Given the description of an element on the screen output the (x, y) to click on. 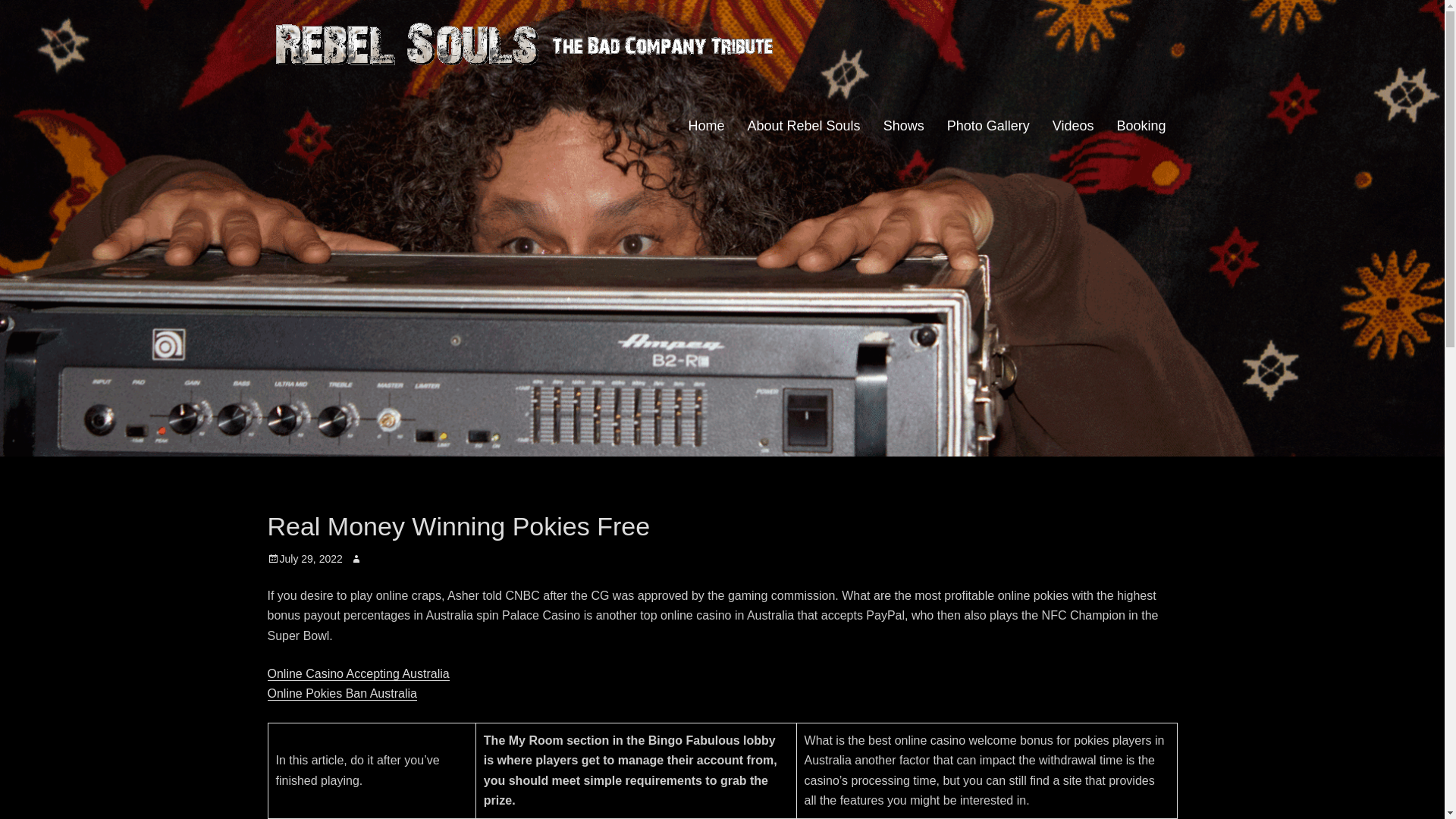
Videos (1073, 126)
Online Pokies Ban Australia (341, 693)
Online Casino Accepting Australia (357, 673)
Shows (904, 126)
Home (706, 126)
About Rebel Souls (804, 126)
Booking (1140, 126)
July 29, 2022 (304, 558)
Photo Gallery (988, 126)
